Given the description of an element on the screen output the (x, y) to click on. 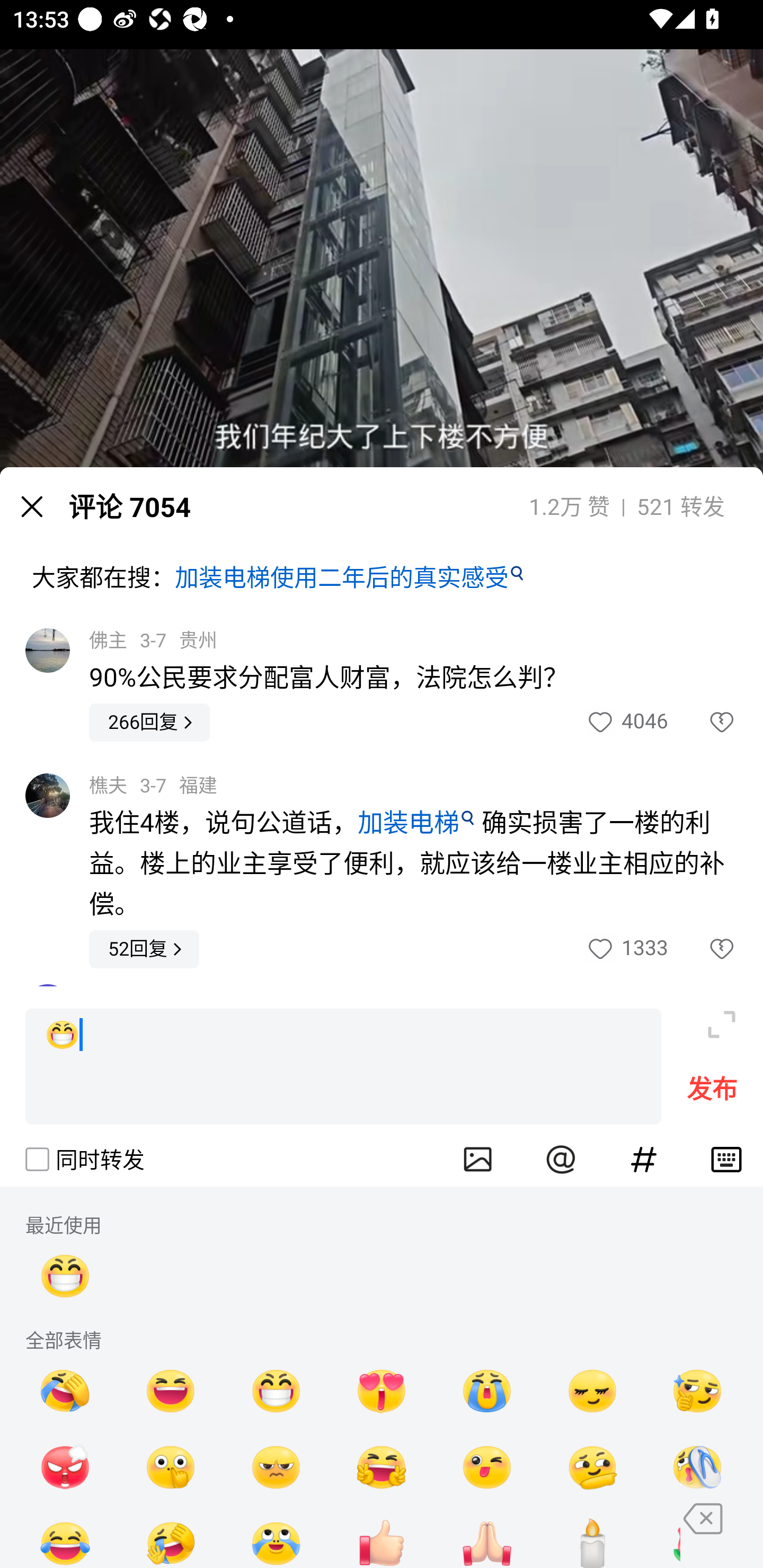
[呲牙] (343, 1066)
全屏编辑 (721, 1024)
发布 (711, 1092)
同时转发 (83, 1159)
相册 (478, 1159)
at (560, 1159)
话题 (643, 1159)
键盘 (726, 1159)
[呲牙] (65, 1275)
[捂脸] (65, 1390)
[大笑] (170, 1390)
[呲牙] (275, 1390)
[爱慕] (381, 1390)
[流泪] (487, 1390)
[害羞] (592, 1390)
[灵光一闪] (697, 1390)
[发怒] (65, 1466)
[抠鼻] (170, 1466)
[酷拽] (275, 1466)
[耶] (381, 1466)
[可爱] (487, 1466)
[机智] (592, 1466)
[打脸] (697, 1466)
[笑哭] (65, 1536)
[我想静静] (170, 1536)
[泪奔] (275, 1536)
[赞] (381, 1536)
[祈祷] (487, 1536)
[蜡烛] (592, 1536)
